Given the description of an element on the screen output the (x, y) to click on. 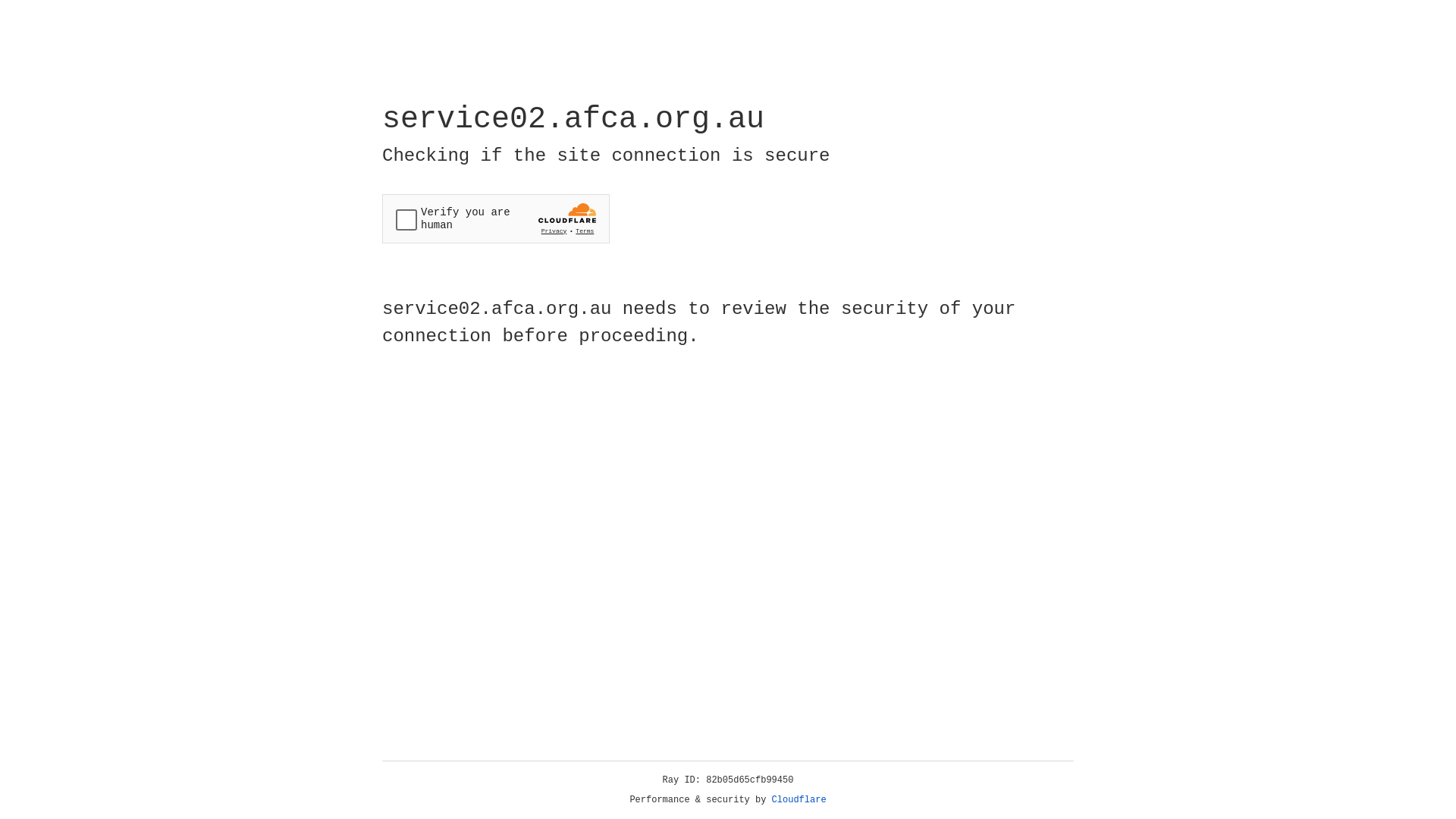
Cloudflare Element type: text (798, 799)
Widget containing a Cloudflare security challenge Element type: hover (495, 218)
